Given the description of an element on the screen output the (x, y) to click on. 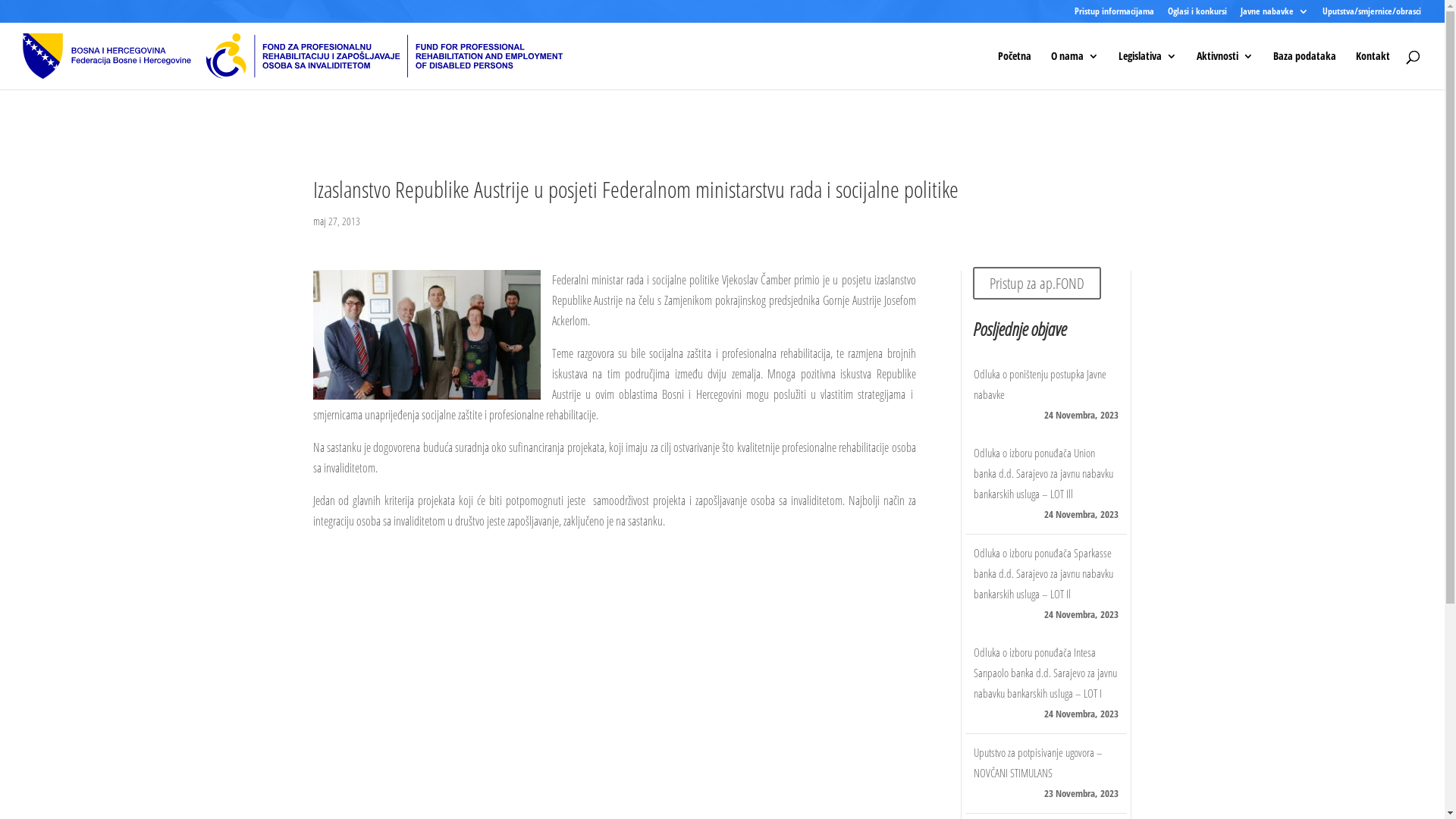
Kontakt Element type: text (1372, 69)
Aktivnosti Element type: text (1224, 69)
Uputstva/smjernice/obrasci Element type: text (1371, 14)
O nama Element type: text (1074, 69)
Pristup informacijama Element type: text (1114, 14)
Pristup za ap.FOND Element type: text (1036, 282)
Legislativa Element type: text (1147, 69)
Javne nabavke Element type: text (1274, 14)
Baza podataka Element type: text (1304, 69)
Oglasi i konkursi Element type: text (1196, 14)
